Given the description of an element on the screen output the (x, y) to click on. 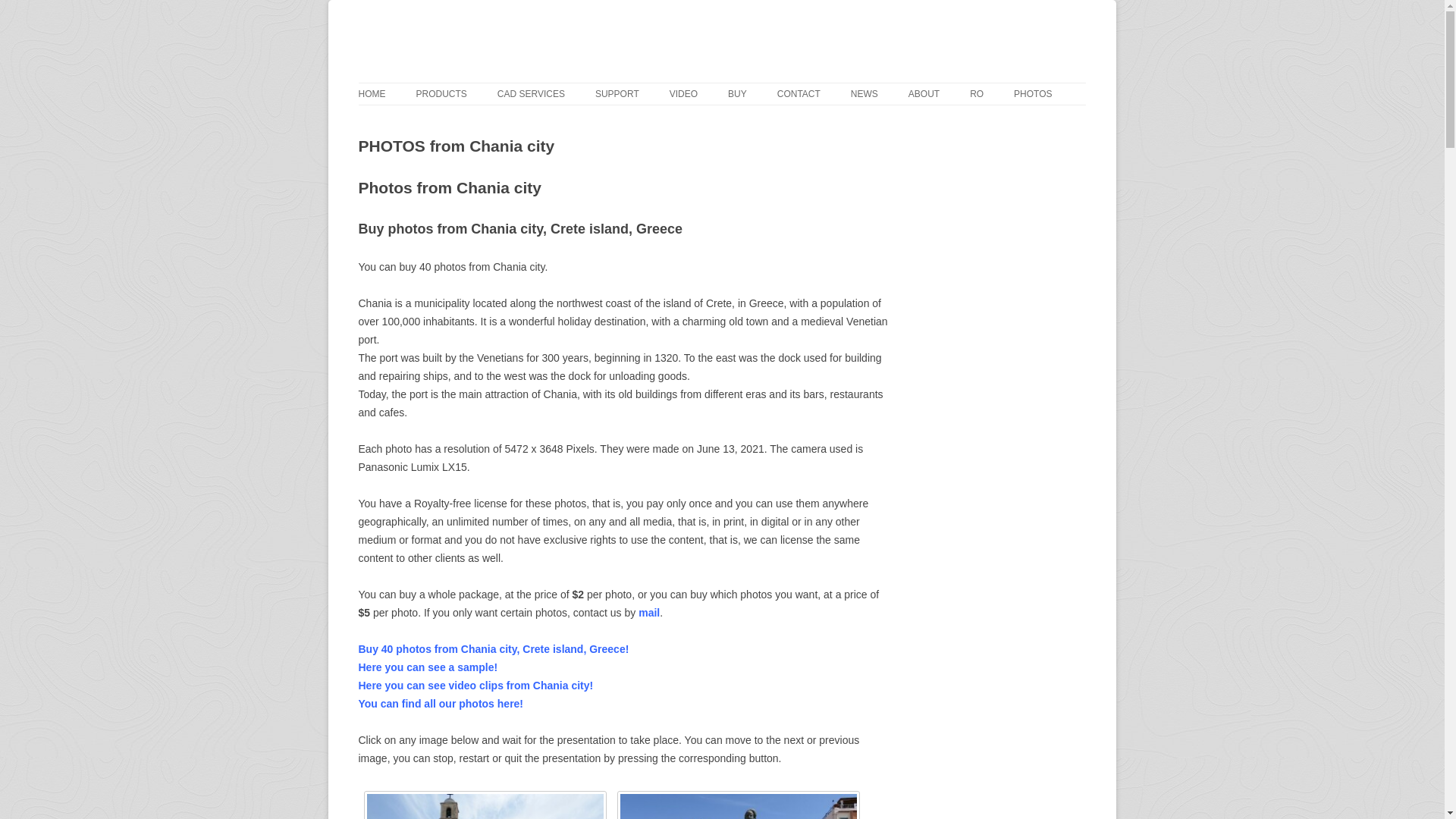
You can find all our photos here! (440, 703)
PRODUCTS (439, 93)
P1010418-01 Statue of freedom fighter Anagnostis Mantakas (738, 805)
Buy 40 photos from Chania city, Crete (493, 648)
Buy 40 photos from Chania city, Crete island, Greece! (493, 648)
All our photos (440, 703)
P1010417-1 Greek Orthodox Cathedral in Plateia Athinagora (485, 805)
Skip to content (1121, 5)
NEWS (863, 93)
BUY (737, 93)
